Given the description of an element on the screen output the (x, y) to click on. 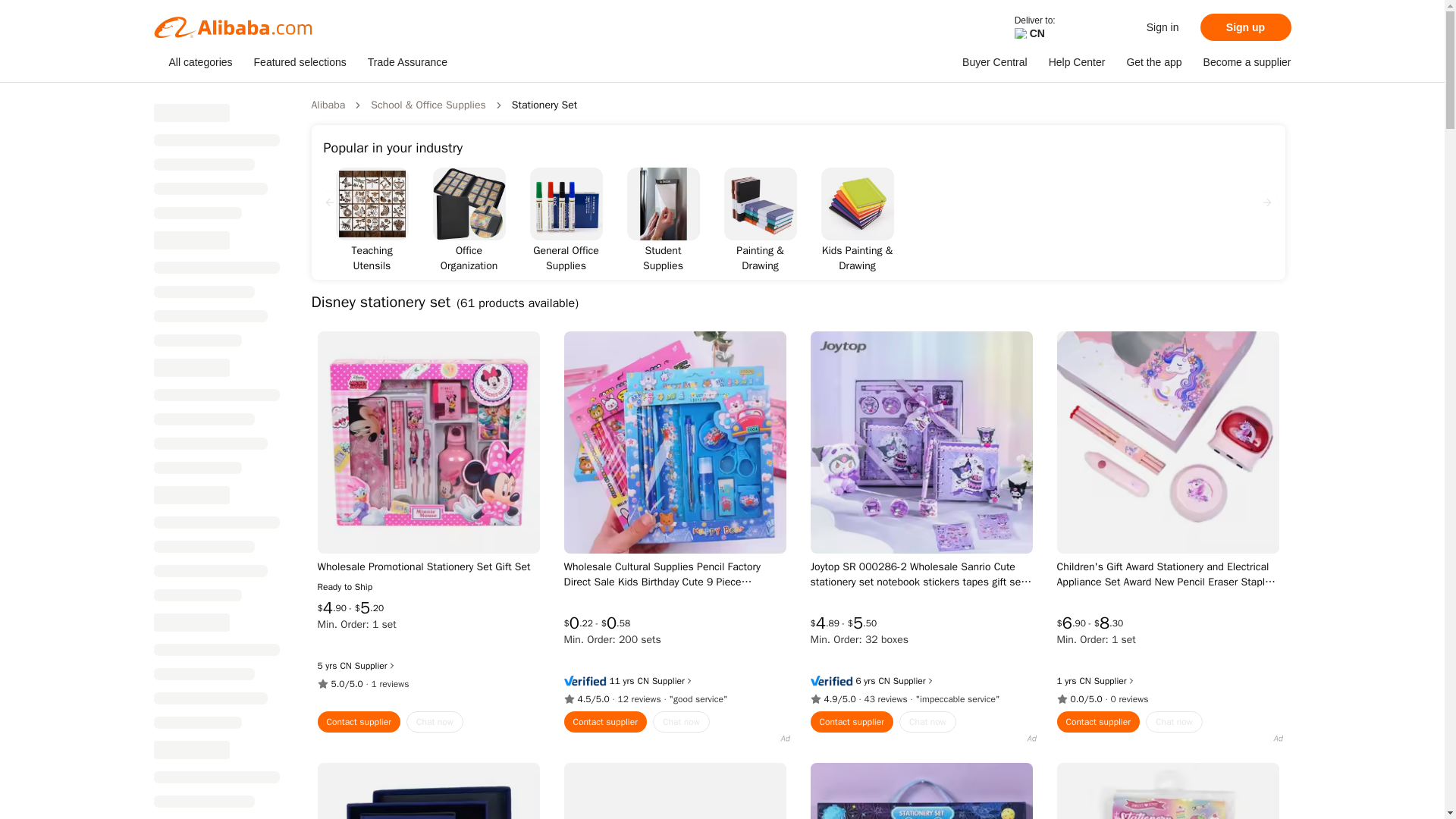
Previous slide (328, 202)
Supplier (375, 665)
Linyi Color Power Stationery Co., Ltd. (1084, 680)
Next slide (1265, 202)
Supplier (673, 680)
Contact supplier (605, 721)
Alibaba (328, 105)
Wholesale Promotional Stationery Set Gift Set (427, 566)
Zhongshan Lianzhong Stationery Co., Ltd. (344, 665)
Supplier (913, 680)
Chat now (434, 721)
Contact supplier (358, 721)
Ningbo Langterm Import And Export Co., Ltd. (643, 680)
